Given the description of an element on the screen output the (x, y) to click on. 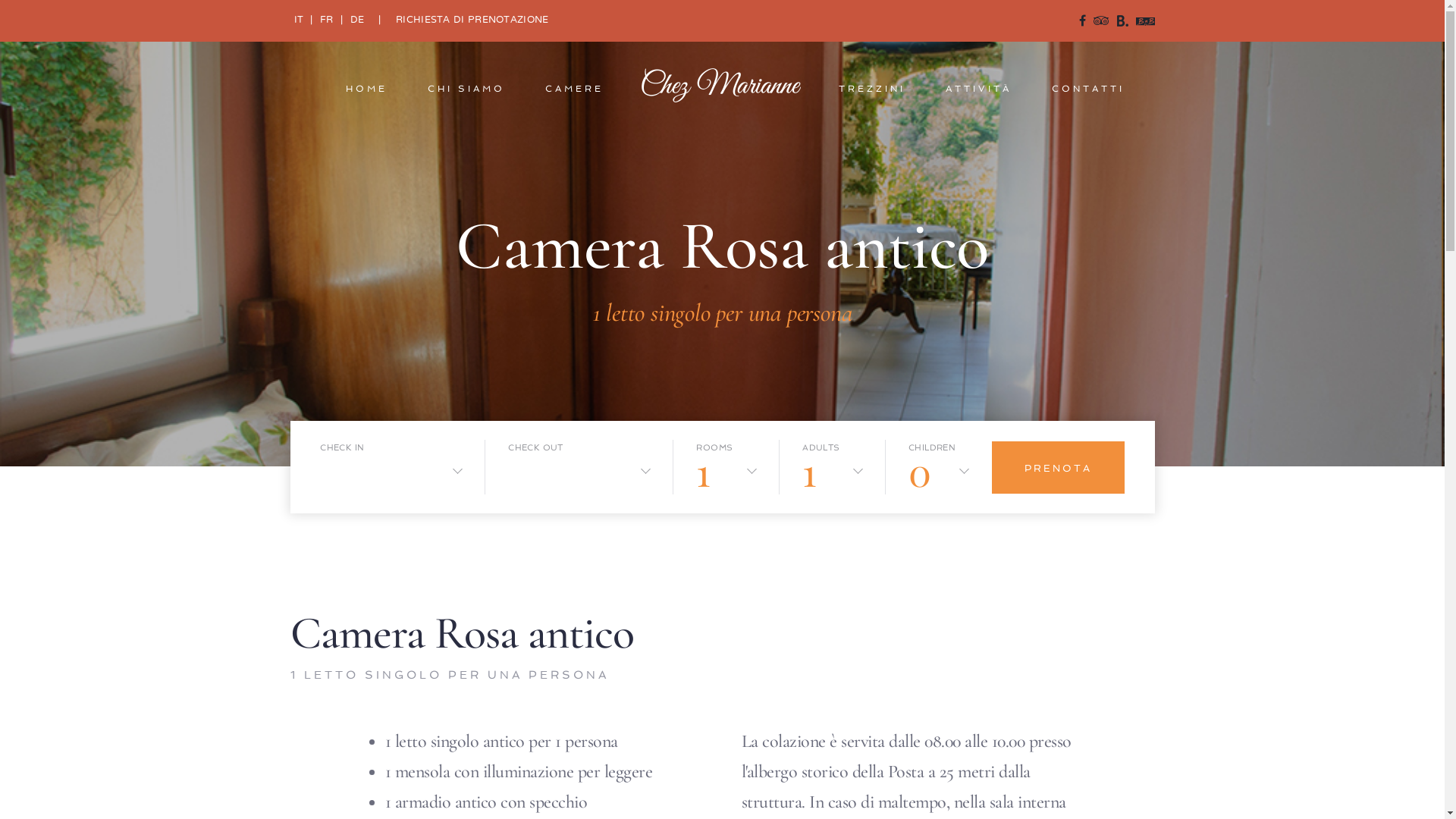
TREZZINI Element type: text (871, 88)
CAMERE Element type: text (574, 88)
IT Element type: text (299, 20)
CHI SIAMO Element type: text (466, 88)
HOME Element type: text (366, 88)
DE Element type: text (357, 20)
RICHIESTA DI PRENOTAZIONE Element type: text (472, 20)
CONTATTI Element type: text (1087, 88)
FR Element type: text (326, 20)
PRENOTA Element type: text (1057, 467)
